Given the description of an element on the screen output the (x, y) to click on. 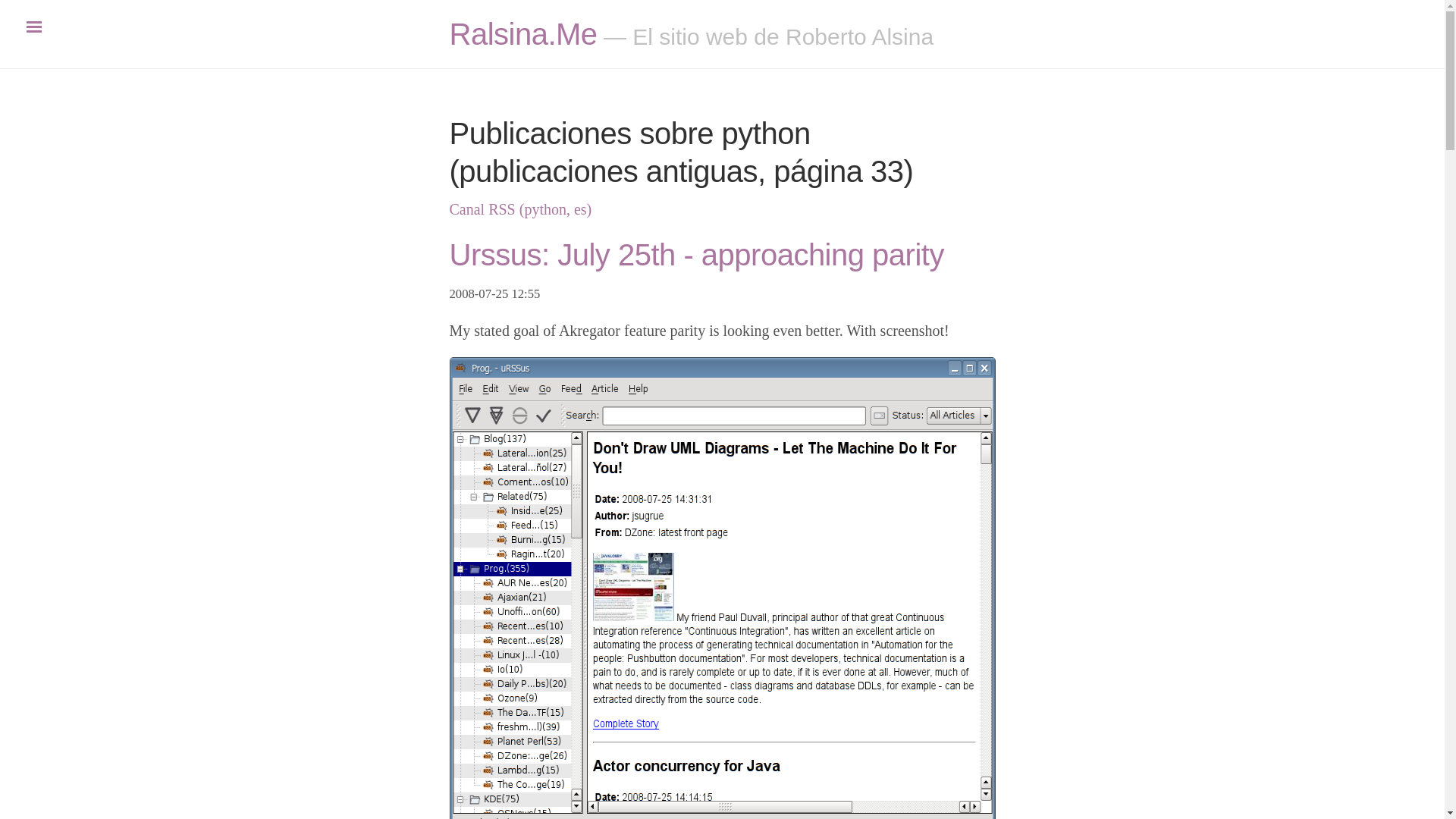
Ralsina.Me (522, 33)
Urssus: July 25th - approaching parity (695, 254)
Ralsina.Me (522, 33)
